Given the description of an element on the screen output the (x, y) to click on. 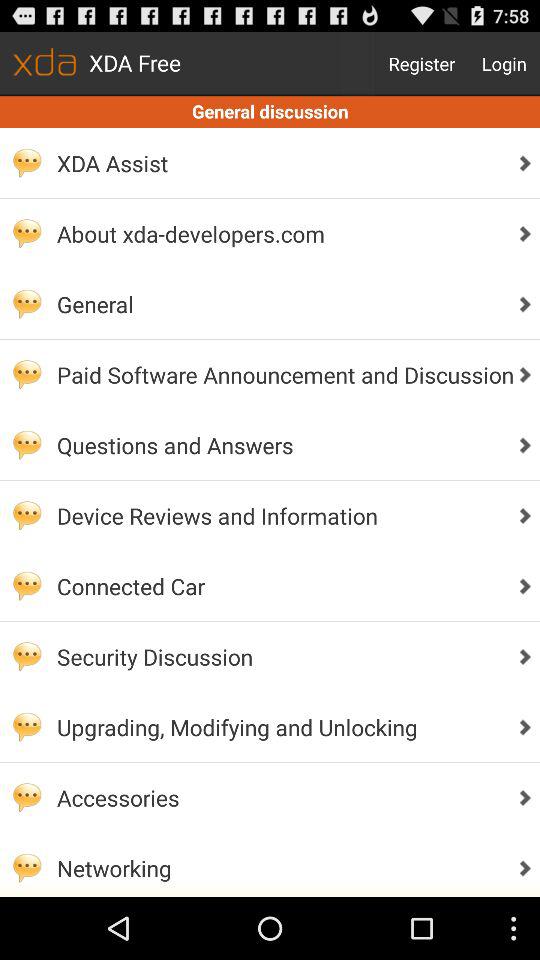
press the about xda developers icon (280, 233)
